Given the description of an element on the screen output the (x, y) to click on. 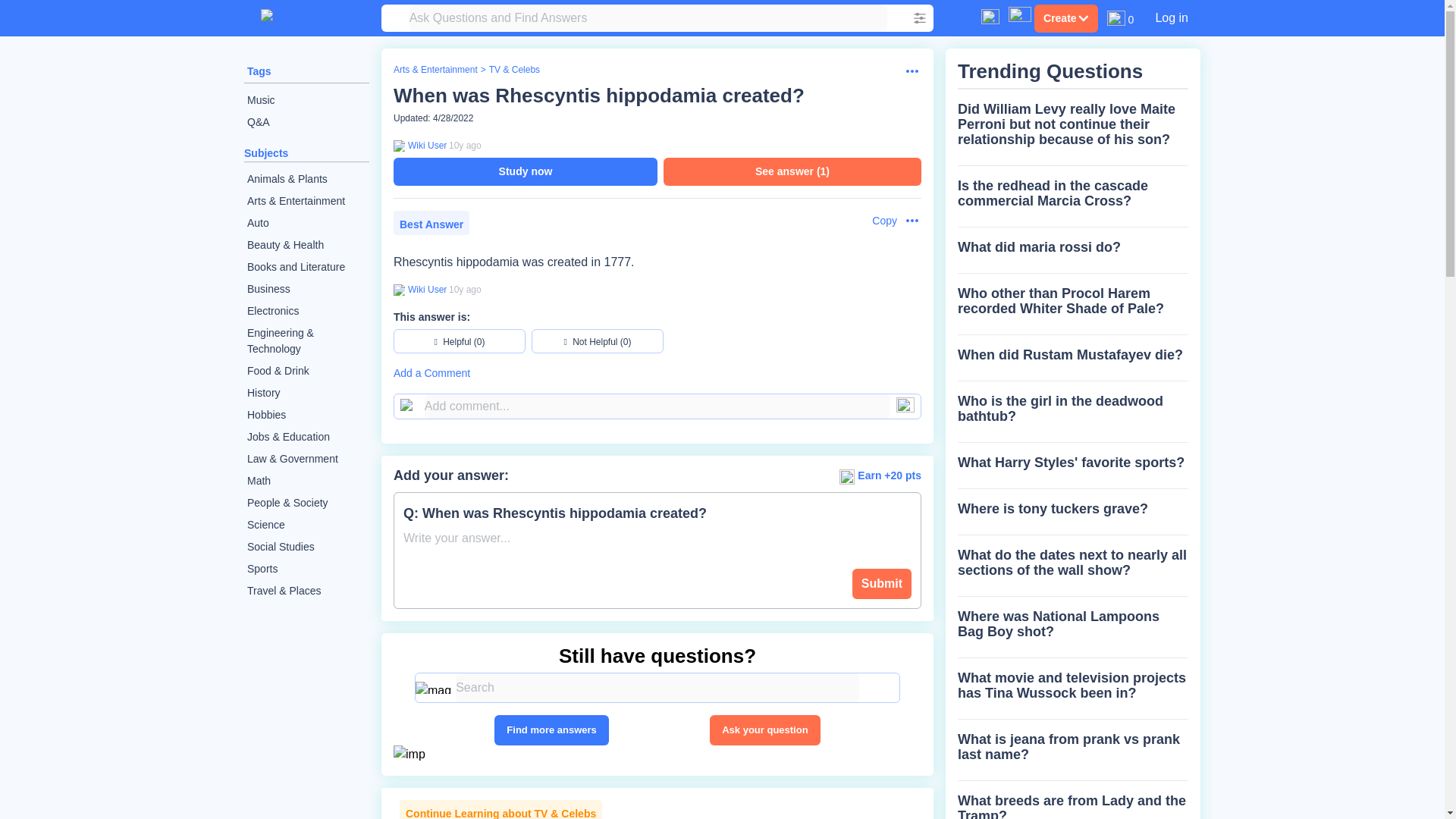
Science (306, 525)
Auto (306, 223)
Books and Literature (306, 267)
Social Studies (306, 546)
Study now (525, 171)
Business (306, 289)
Add a Comment (657, 373)
Ask your question (764, 729)
Music (306, 100)
Subjects (266, 152)
